Given the description of an element on the screen output the (x, y) to click on. 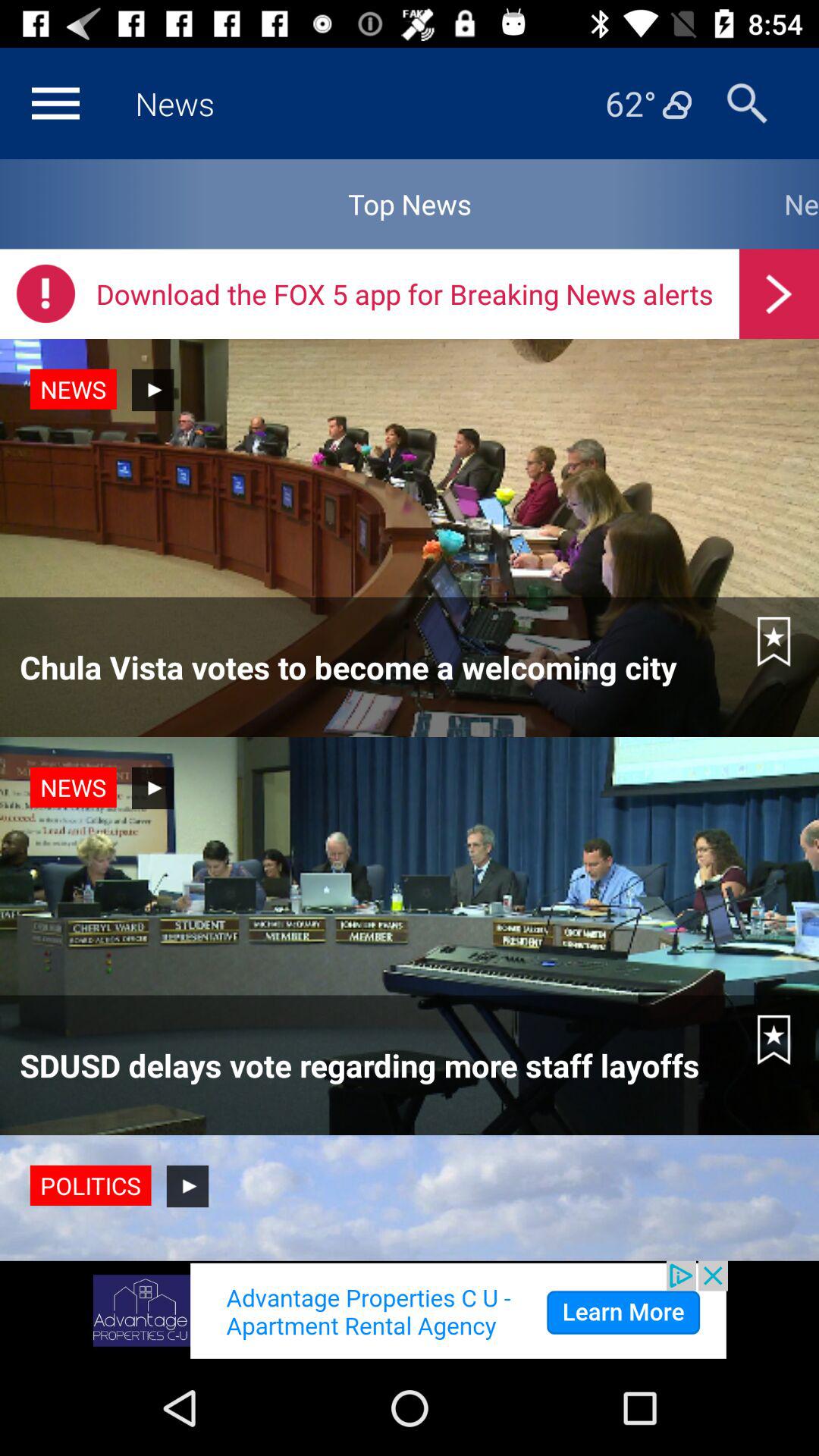
search (747, 103)
